Given the description of an element on the screen output the (x, y) to click on. 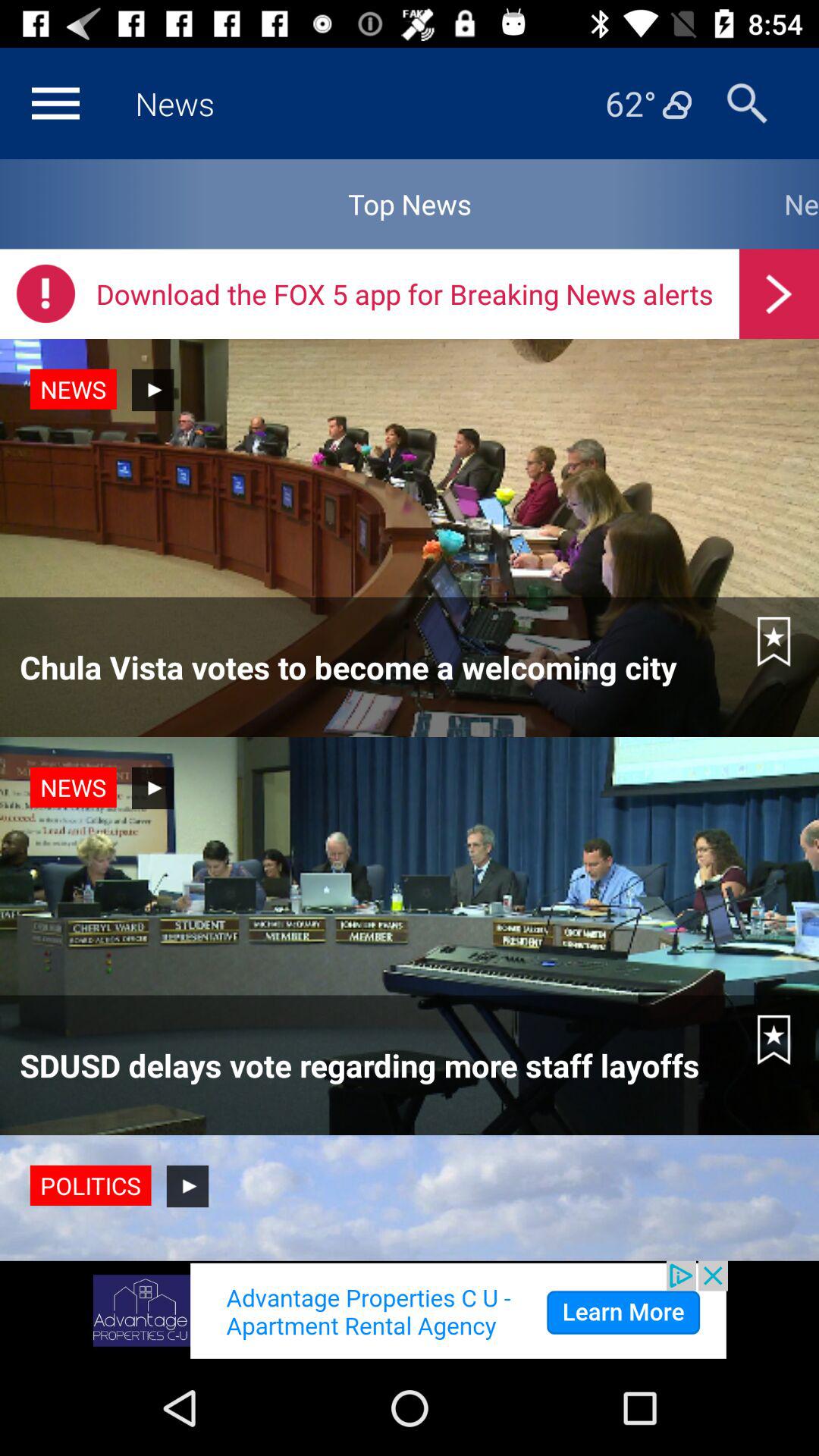
search (747, 103)
